Given the description of an element on the screen output the (x, y) to click on. 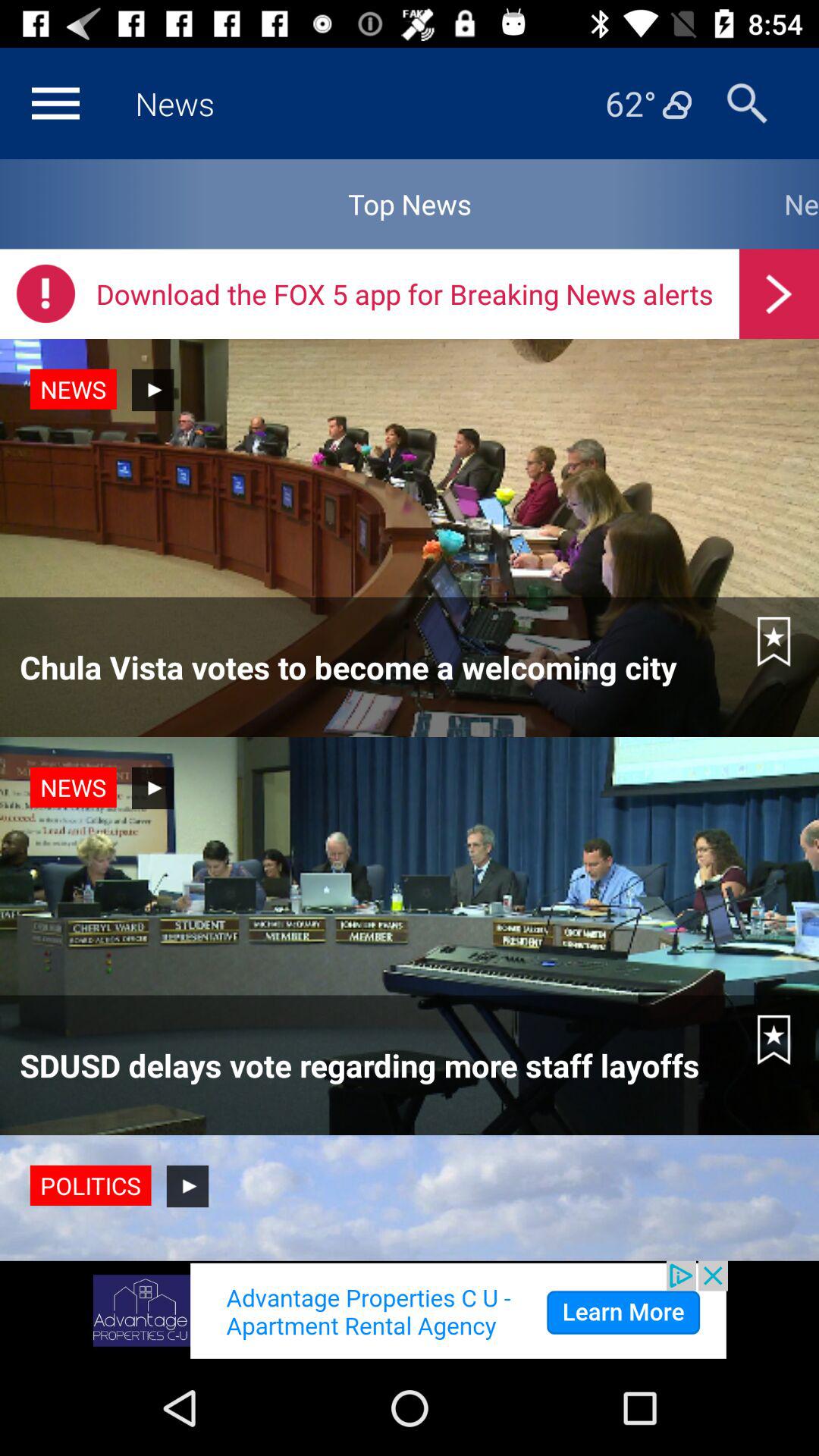
search (747, 103)
